Given the description of an element on the screen output the (x, y) to click on. 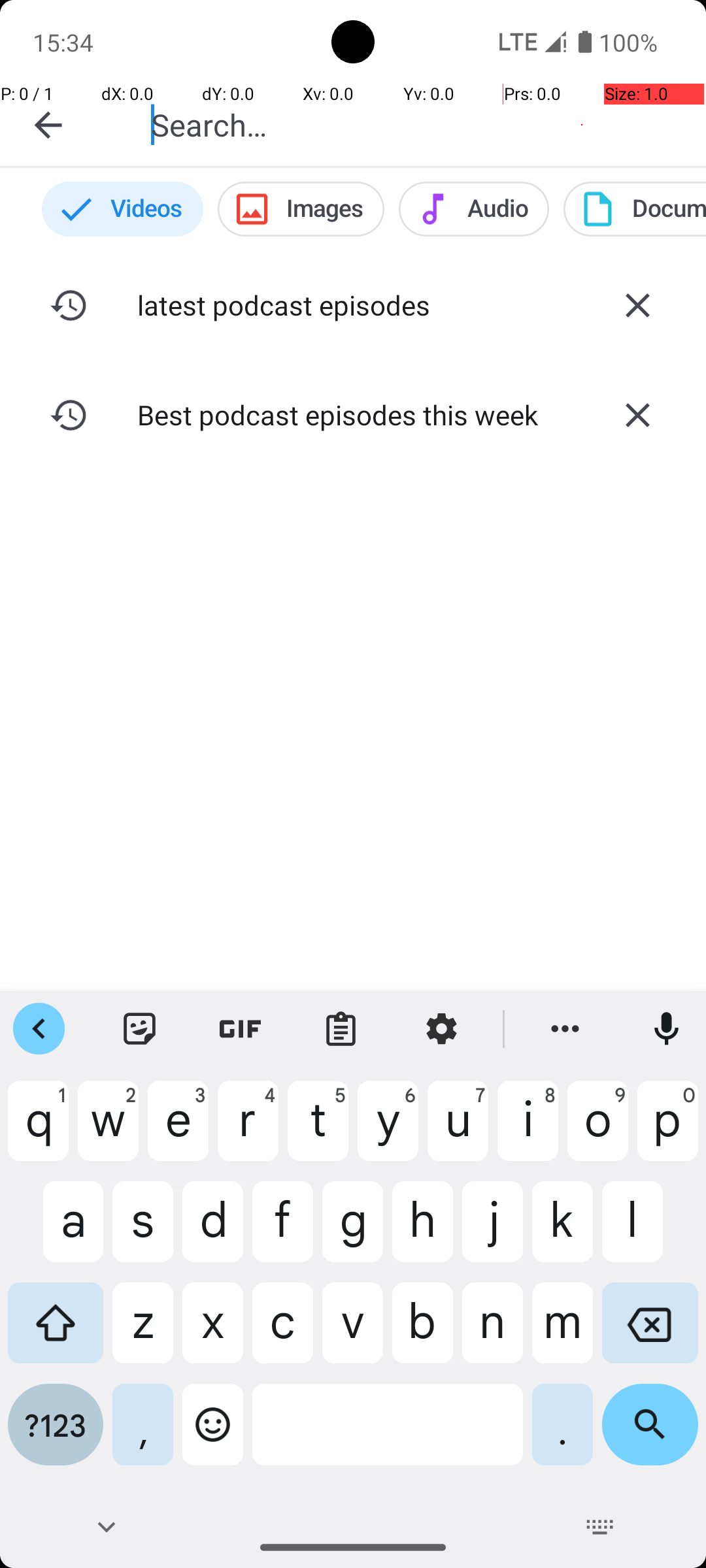
latest podcast episodes Element type: android.widget.TextView (352, 304)
Delete search history latest podcast episodes Element type: android.widget.ImageView (637, 304)
Best podcast episodes this week Element type: android.widget.TextView (352, 414)
Delete search history Best podcast episodes this week Element type: android.widget.ImageView (637, 414)
